Given the description of an element on the screen output the (x, y) to click on. 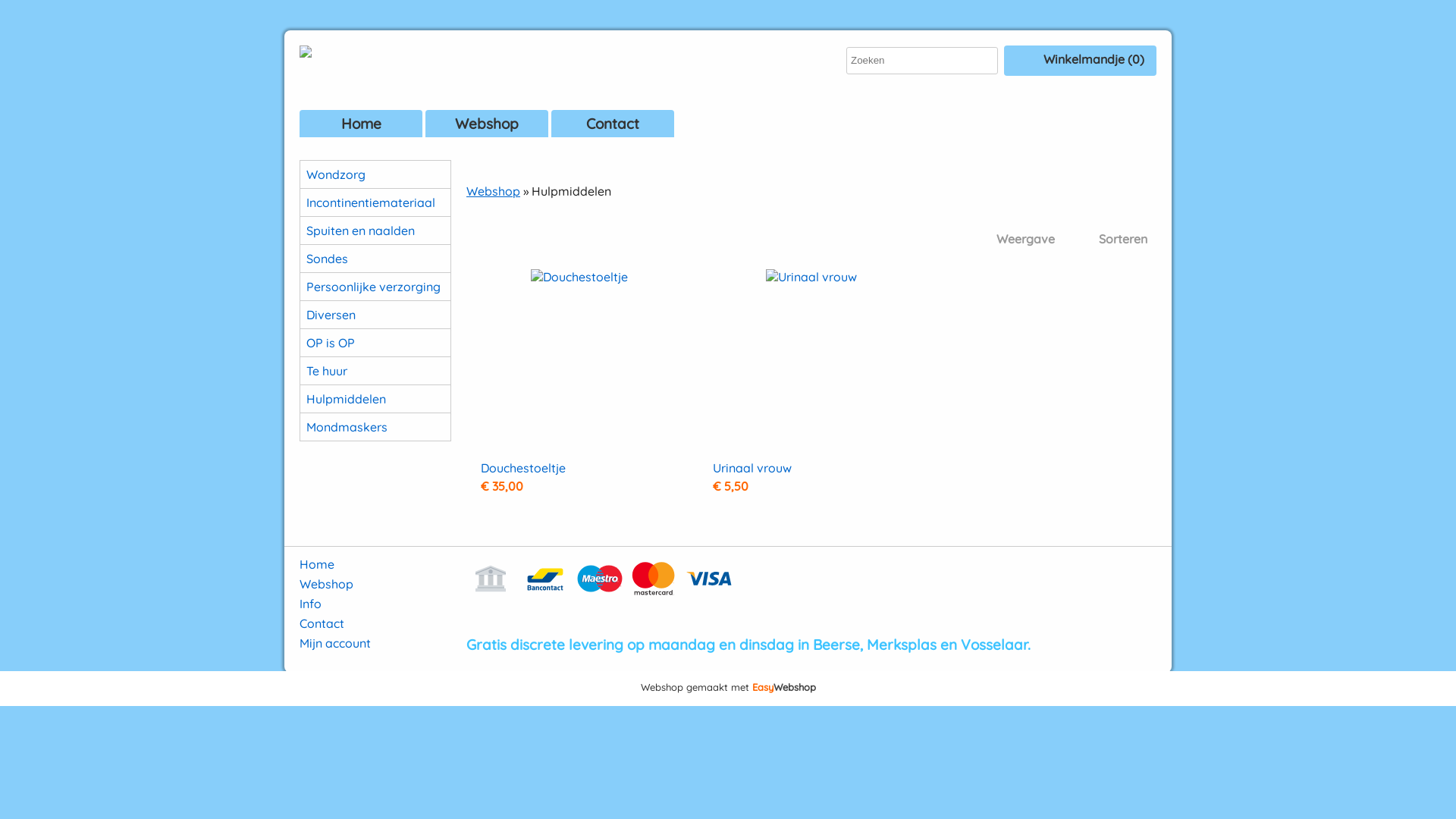
Te huur Element type: text (375, 370)
Contact Element type: text (612, 123)
Persoonlijke verzorging Element type: text (375, 286)
Home Element type: text (360, 123)
Spuiten en naalden Element type: text (375, 230)
Webshop Element type: text (486, 123)
Sorteren Element type: text (1109, 240)
Hulpmiddelen Element type: text (375, 398)
Diversen Element type: text (375, 314)
Sondes Element type: text (375, 258)
Webshop Element type: text (326, 583)
Webshop gemaakt met EasyWebshop Element type: text (727, 688)
Mondmaskers Element type: text (375, 426)
Incontinentiemateriaal Element type: text (375, 202)
Weergave Element type: text (1012, 240)
Webshop Element type: text (493, 190)
WinkelmandjeWinkelmandje (0) Element type: text (1080, 60)
OP is OP Element type: text (375, 342)
Wondzorg Element type: text (375, 174)
Home Element type: text (316, 564)
Info Element type: text (310, 603)
Contact Element type: text (321, 623)
Mijn account Element type: text (334, 642)
